Given the description of an element on the screen output the (x, y) to click on. 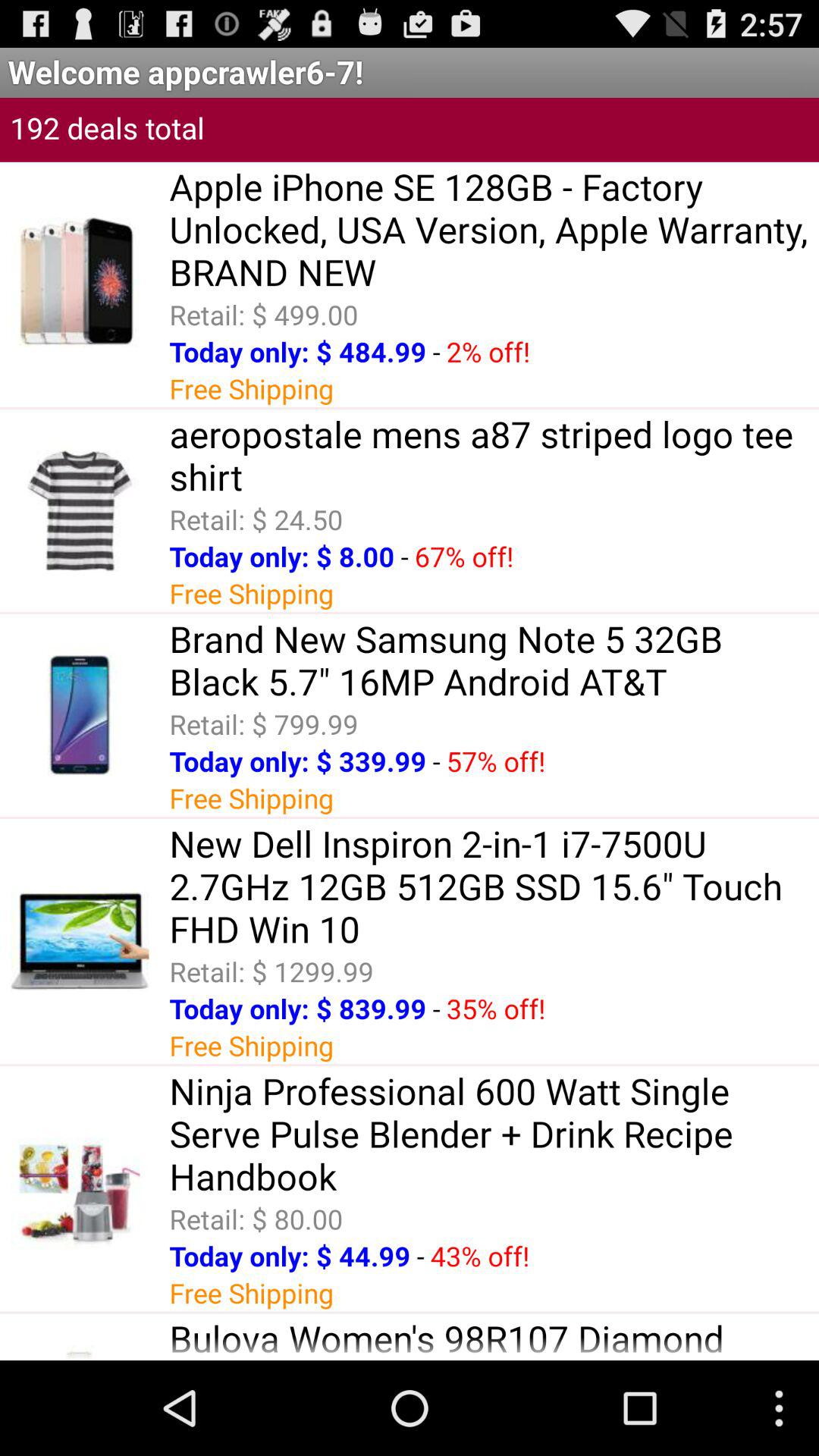
select the - (404, 556)
